Given the description of an element on the screen output the (x, y) to click on. 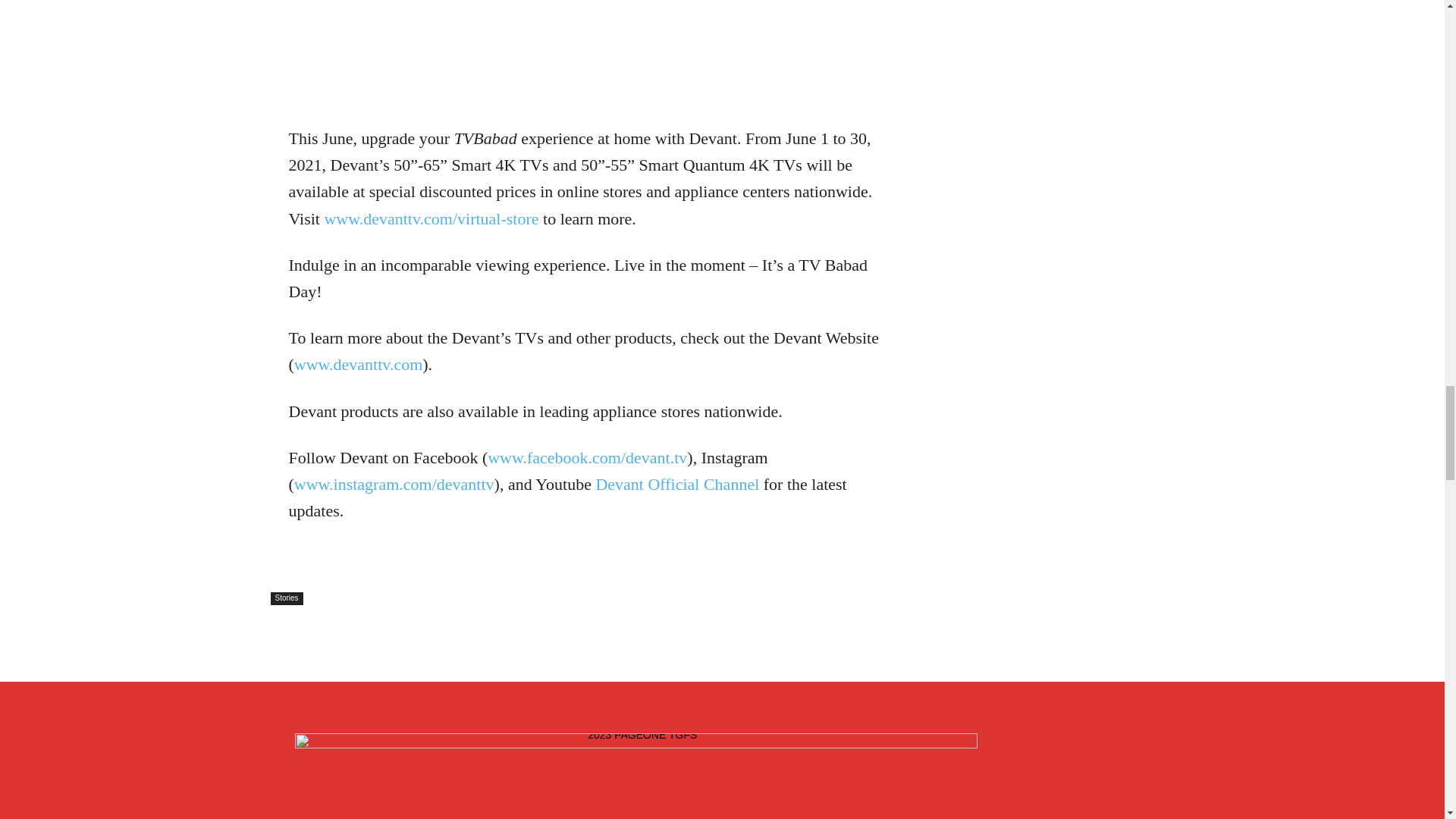
Devant Official Channel (676, 484)
Stories (285, 598)
www.devanttv.com (358, 363)
